Given the description of an element on the screen output the (x, y) to click on. 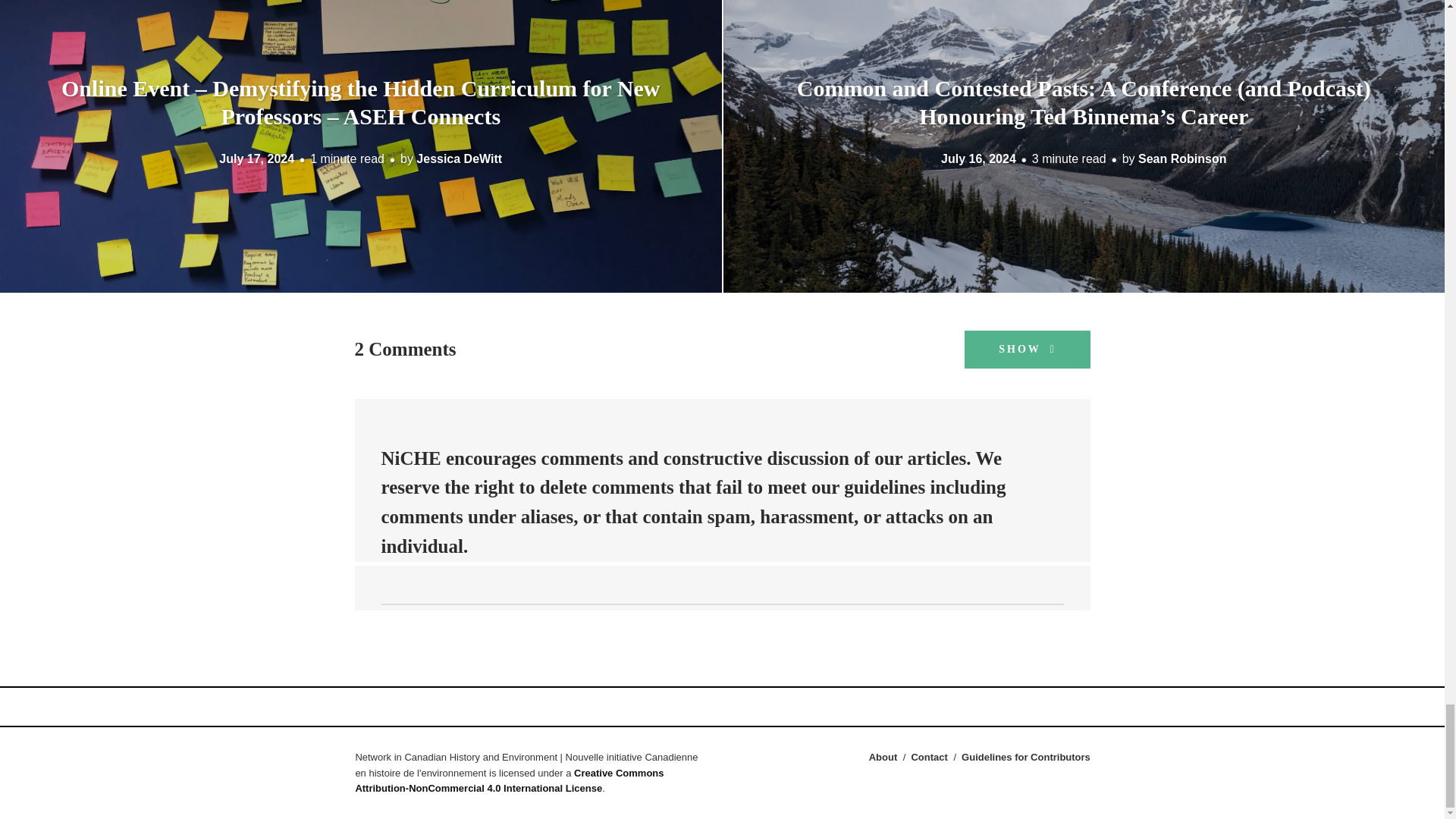
2:48 am (978, 158)
6:00 am (256, 158)
